Given the description of an element on the screen output the (x, y) to click on. 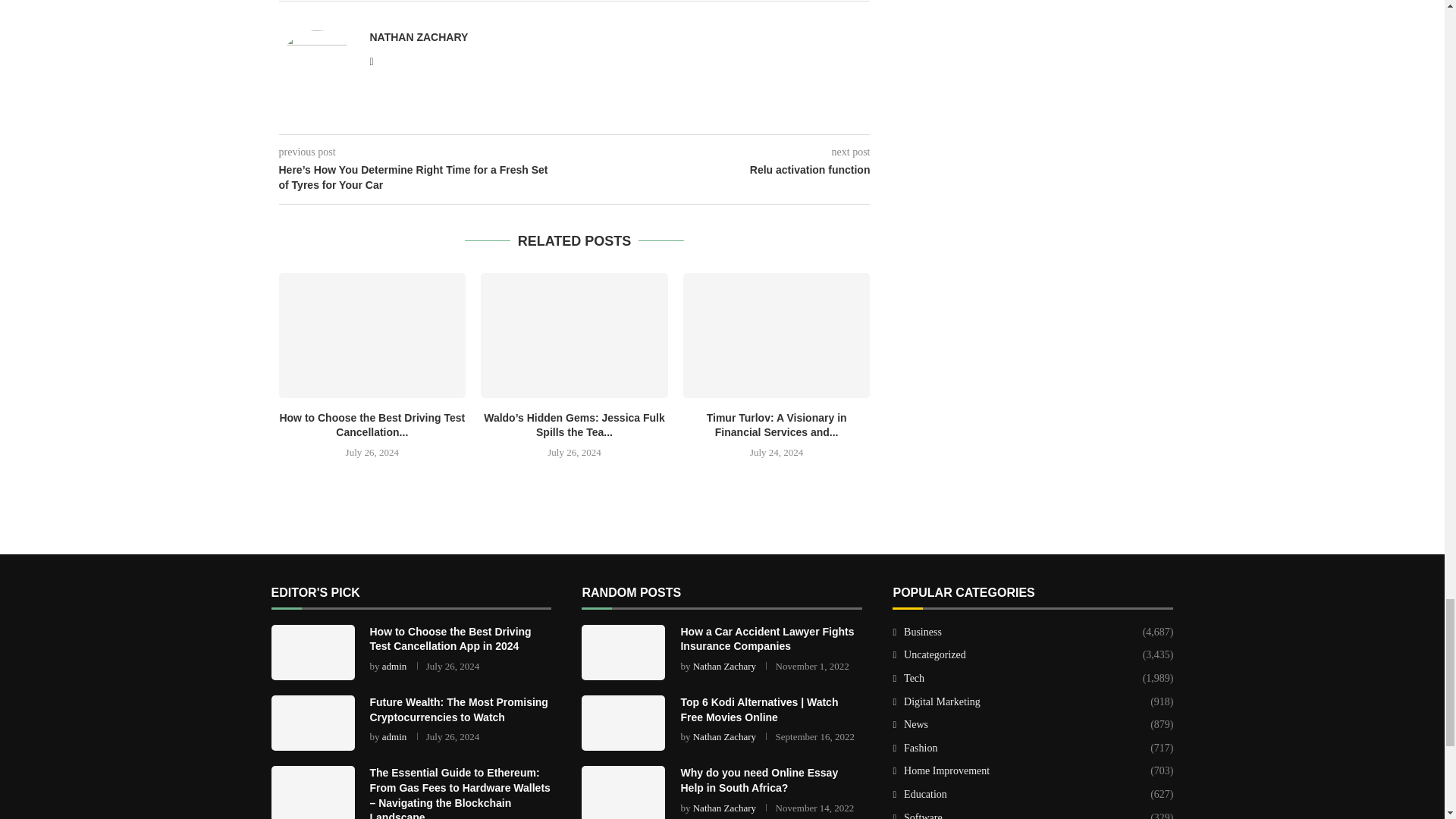
How to Choose the Best Driving Test Cancellation App in 2024 (372, 334)
NATHAN ZACHARY (418, 37)
Author Nathan Zachary (418, 37)
